Given the description of an element on the screen output the (x, y) to click on. 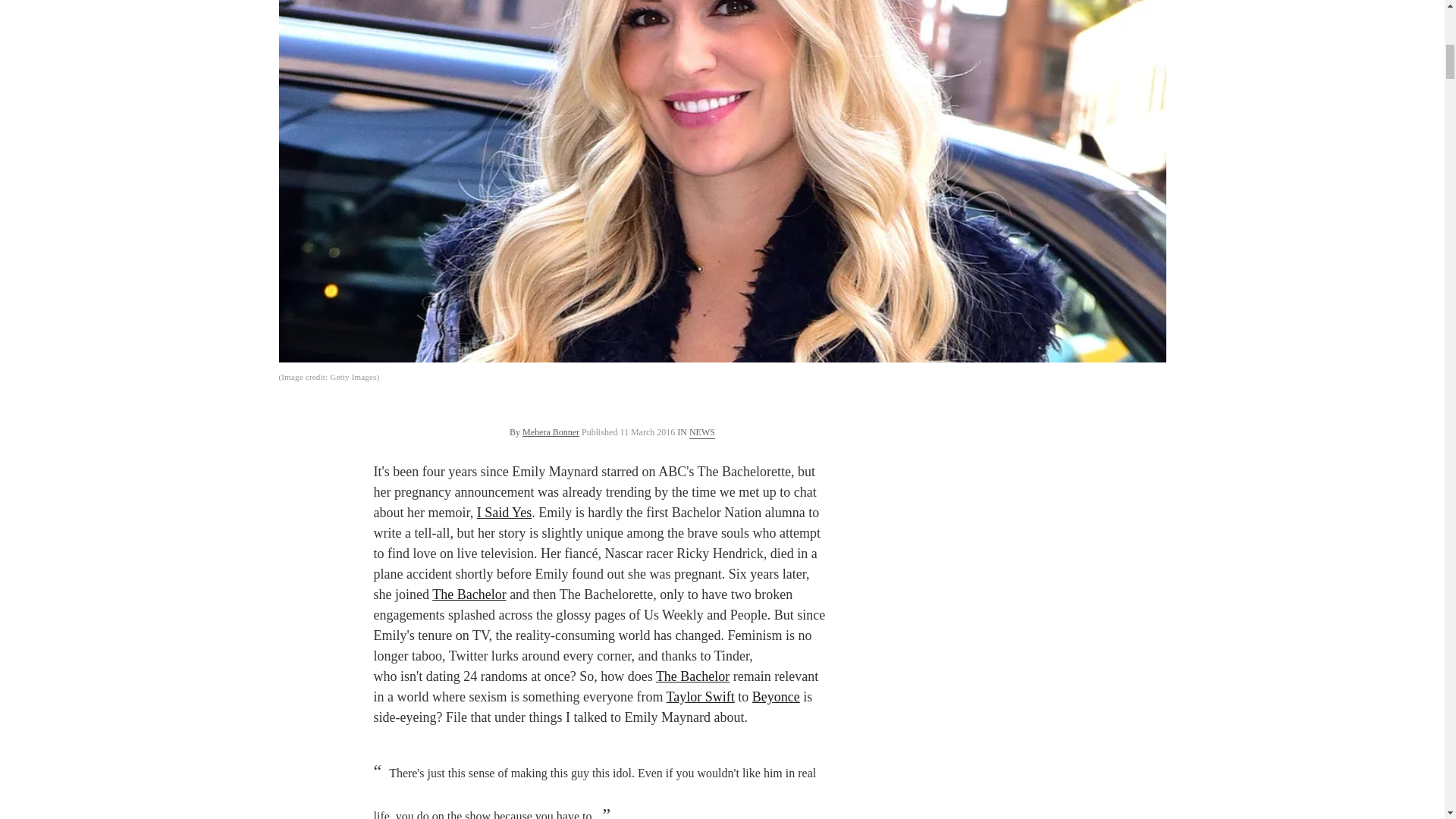
Mehera Bonner (550, 431)
NEWS (701, 431)
